Given the description of an element on the screen output the (x, y) to click on. 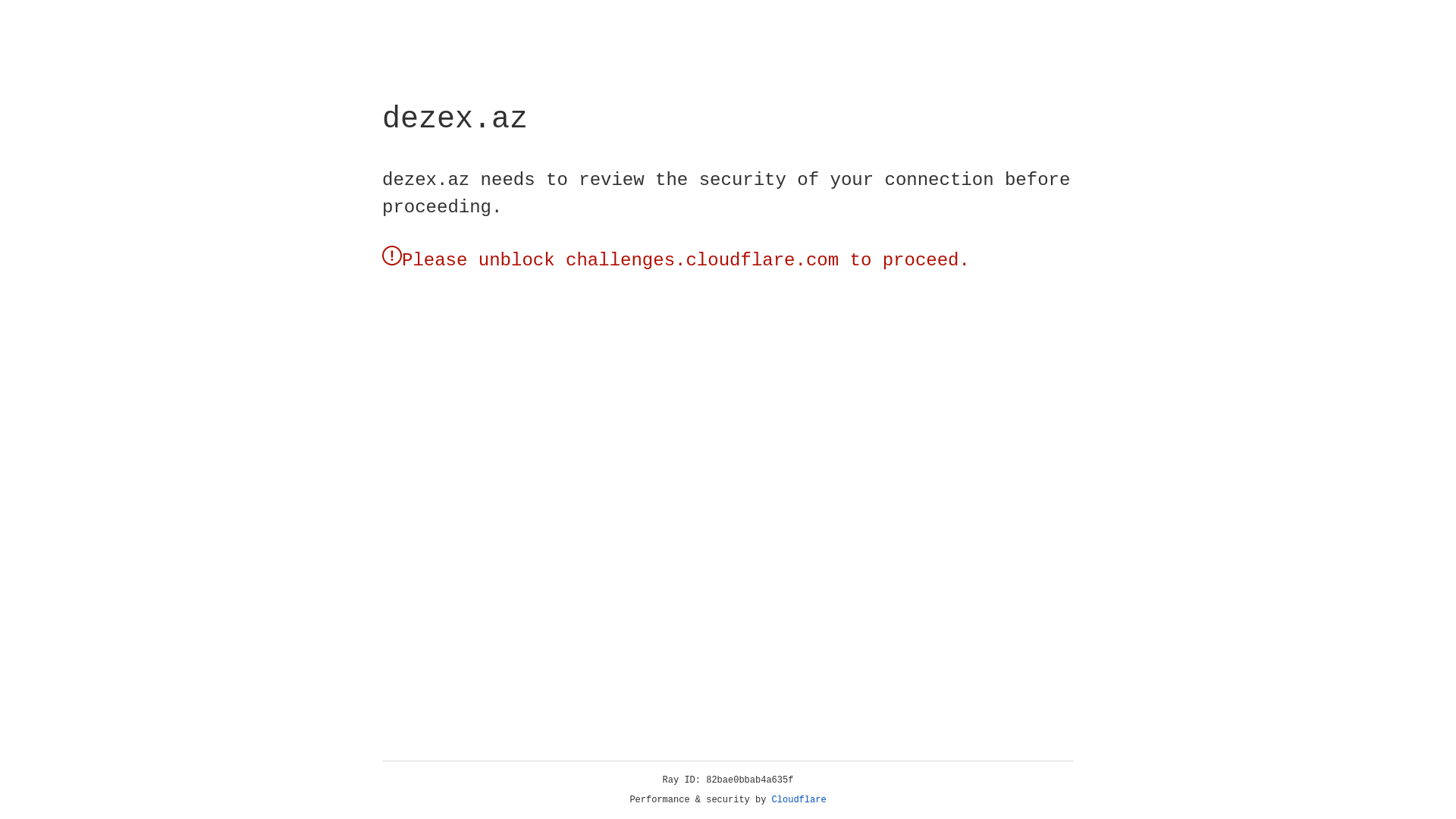
Cloudflare Element type: text (798, 799)
